Given the description of an element on the screen output the (x, y) to click on. 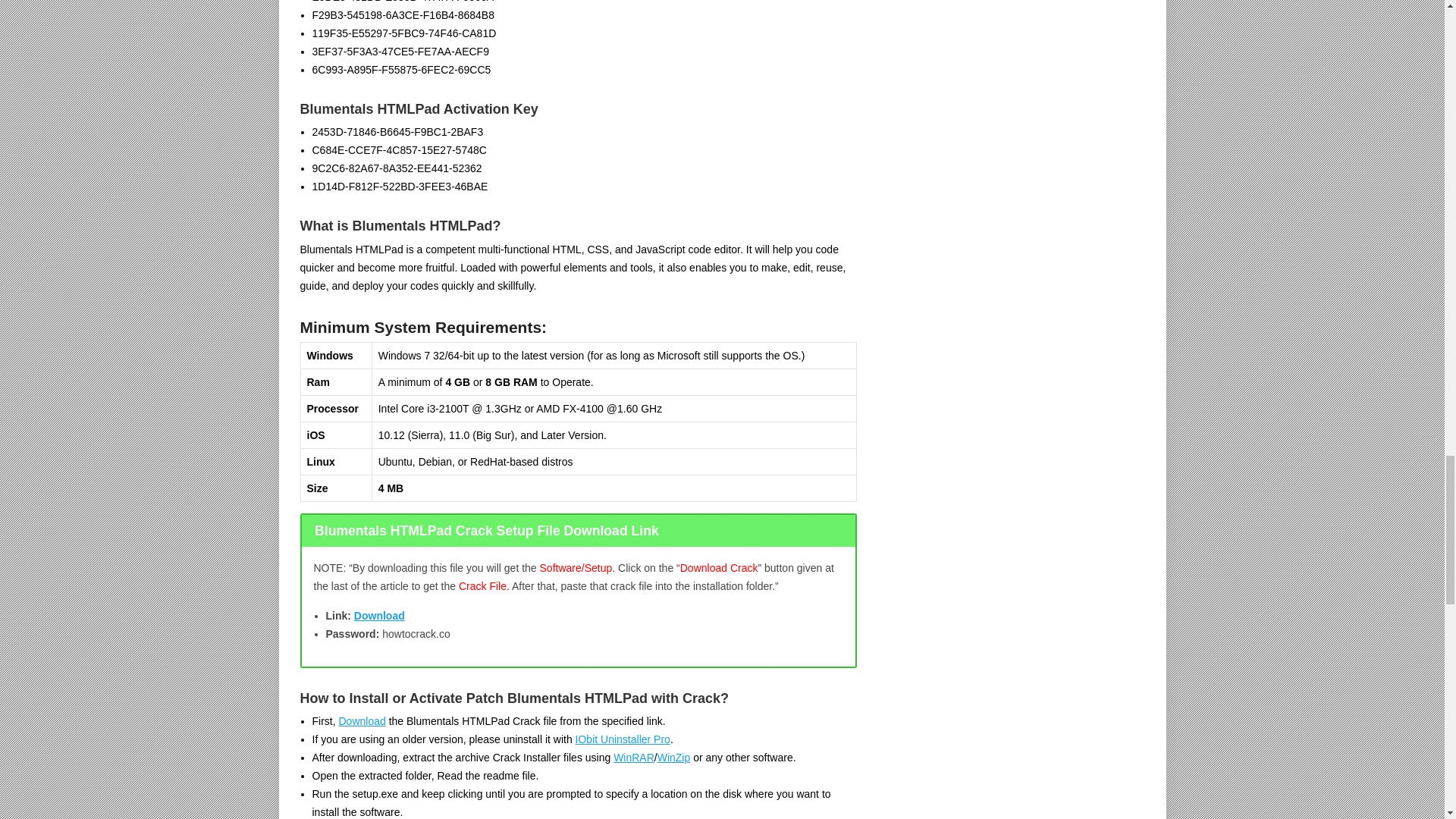
Download (361, 720)
WinZip (674, 757)
Download (378, 615)
IObit Uninstaller Pro (622, 739)
WinRAR (632, 757)
